Given the description of an element on the screen output the (x, y) to click on. 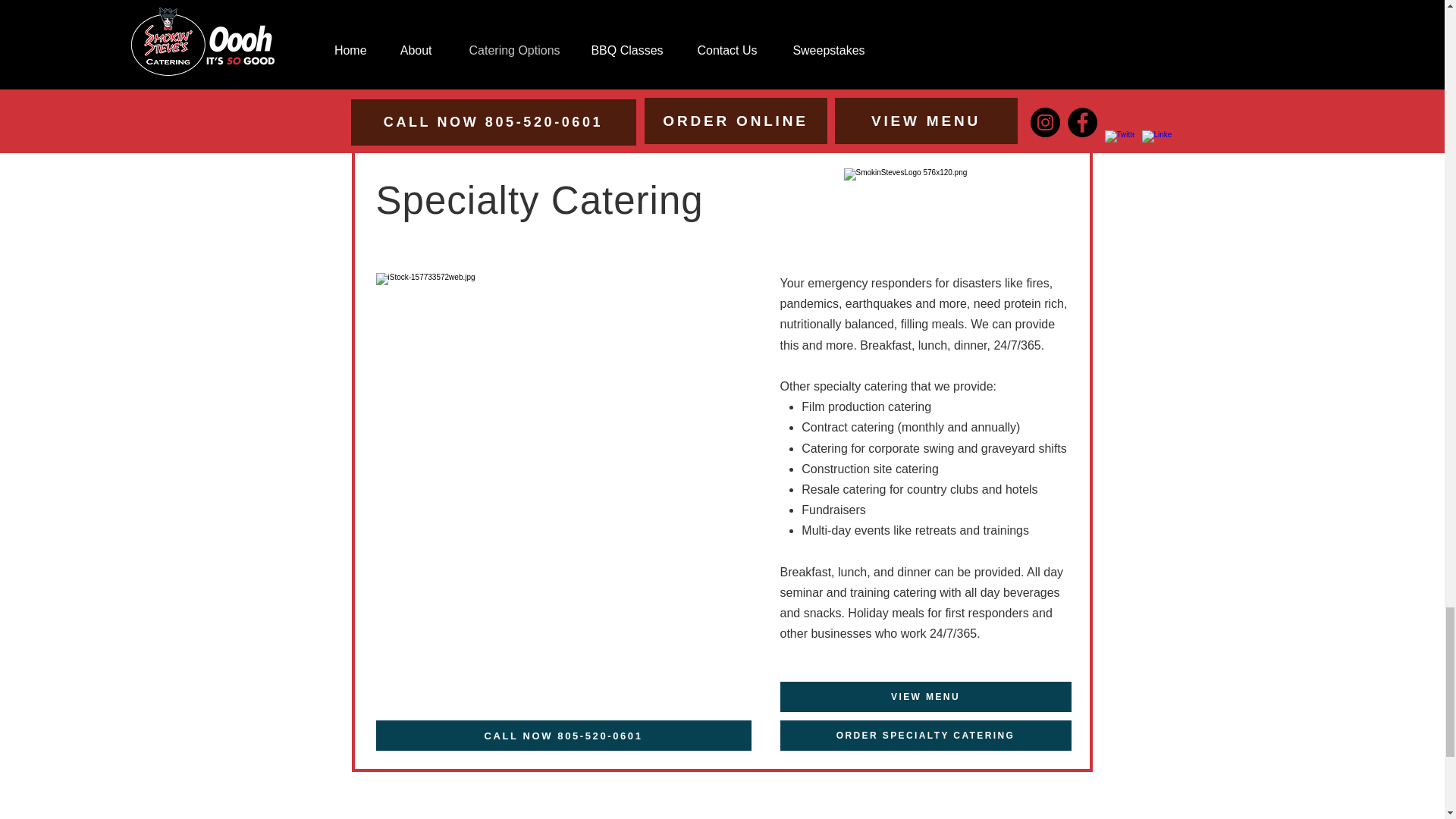
ORDER WEDDING CATERING (925, 73)
VIEW MENU (925, 36)
VIEW MENU (924, 696)
CALL NOW 805-520-0601 (563, 73)
ORDER SPECIALTY CATERING (924, 735)
CALL NOW 805-520-0601 (563, 735)
